Given the description of an element on the screen output the (x, y) to click on. 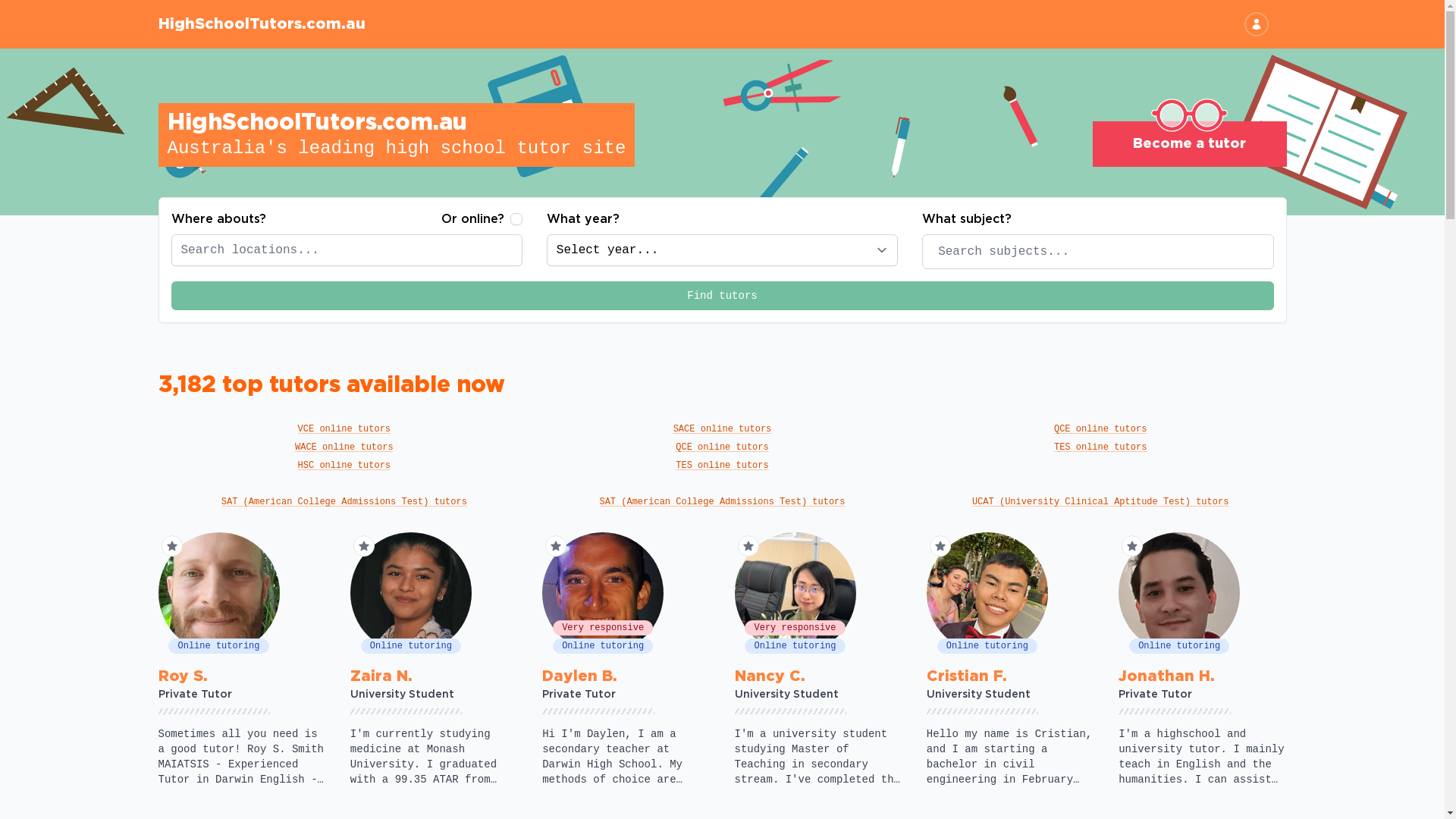
SACE online tutors Element type: text (722, 429)
HSC online tutors Element type: text (343, 465)
QCE online tutors Element type: text (1100, 429)
Search subjects Element type: hover (1270, 251)
Search locations Element type: hover (519, 250)
Remove from shortlist Element type: hover (1131, 545)
HighSchoolTutors.com.au Element type: text (260, 23)
Remove from shortlist Element type: hover (939, 545)
Find tutors Element type: text (722, 295)
SAT (American College Admissions Test) tutors Element type: text (343, 501)
WACE online tutors Element type: text (343, 447)
VCE online tutors Element type: text (343, 429)
Remove from shortlist Element type: hover (555, 545)
Remove from shortlist Element type: hover (747, 545)
TES online tutors Element type: text (722, 465)
UCAT (University Clinical Aptitude Test) tutors Element type: text (1100, 501)
Remove from shortlist Element type: hover (363, 545)
SAT (American College Admissions Test) tutors Element type: text (722, 501)
Open user menu Element type: text (1255, 24)
Remove from shortlist Element type: hover (171, 545)
Become a tutor Element type: text (1189, 143)
TES online tutors Element type: text (1100, 447)
QCE online tutors Element type: text (722, 447)
